Given the description of an element on the screen output the (x, y) to click on. 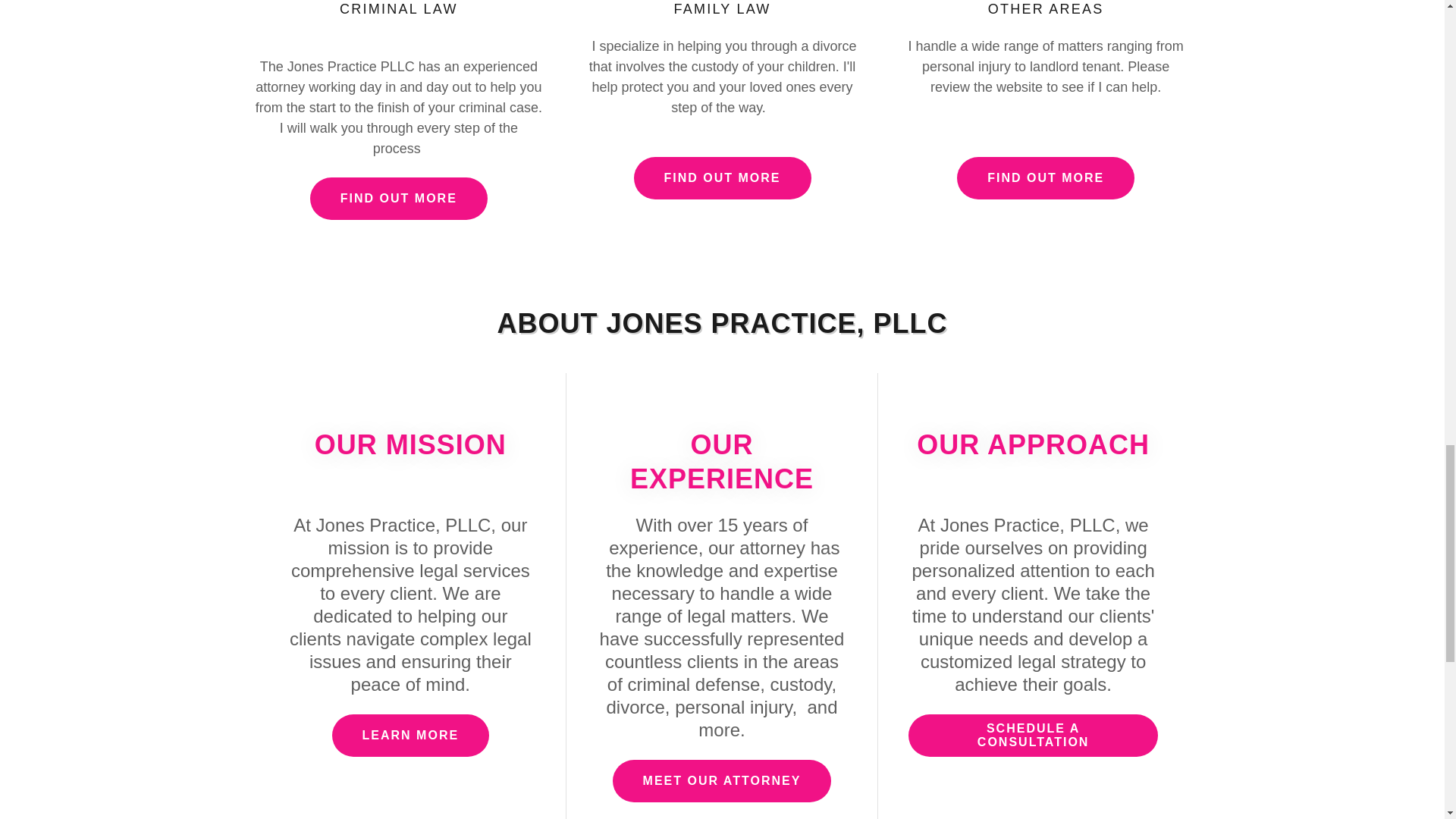
MEET OUR ATTORNEY (721, 781)
FIND OUT MORE (721, 178)
SCHEDULE A CONSULTATION (1033, 735)
FIND OUT MORE (1045, 178)
LEARN MORE (410, 735)
FIND OUT MORE (398, 198)
